Given the description of an element on the screen output the (x, y) to click on. 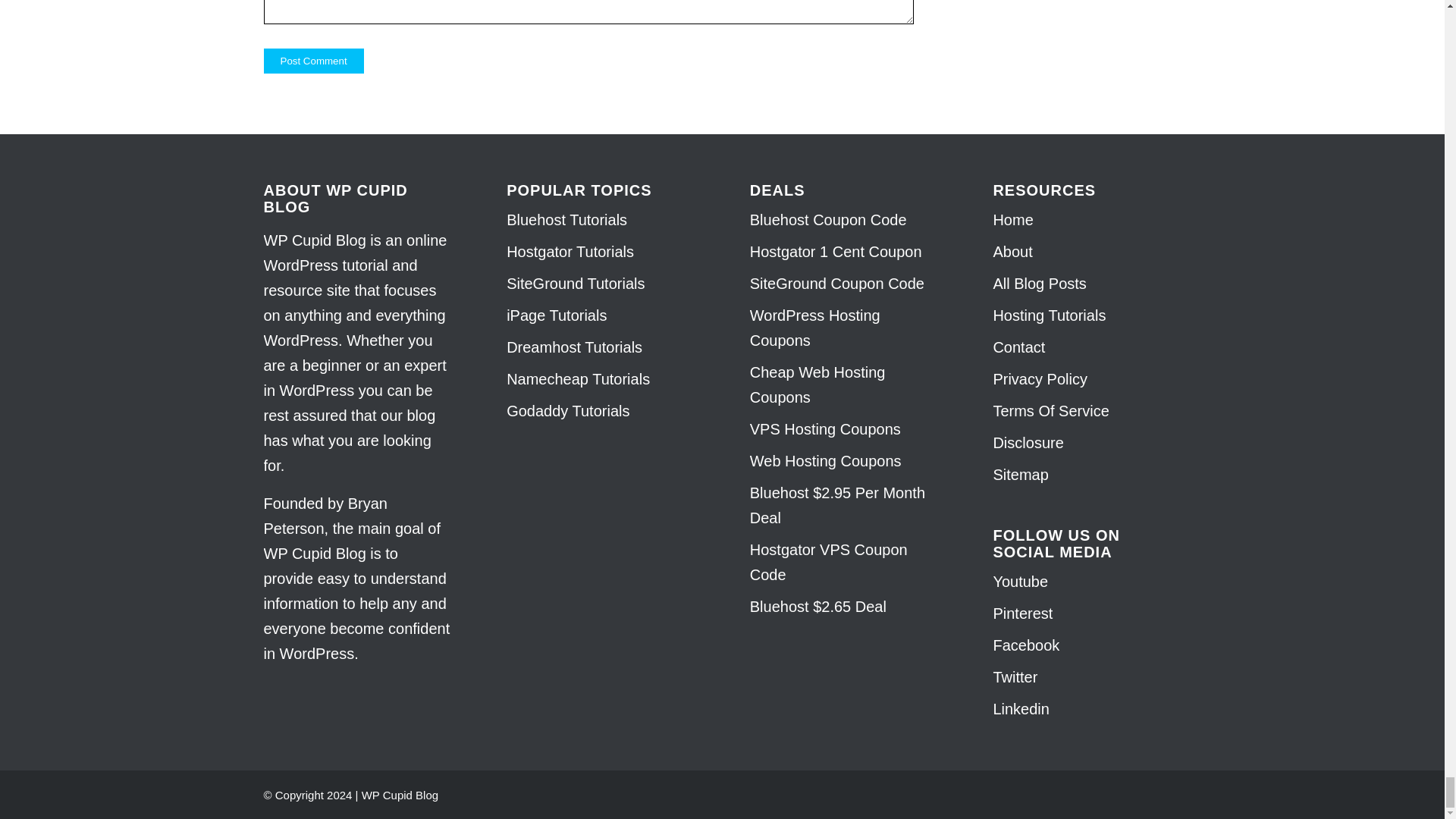
Post Comment (313, 60)
